Given the description of an element on the screen output the (x, y) to click on. 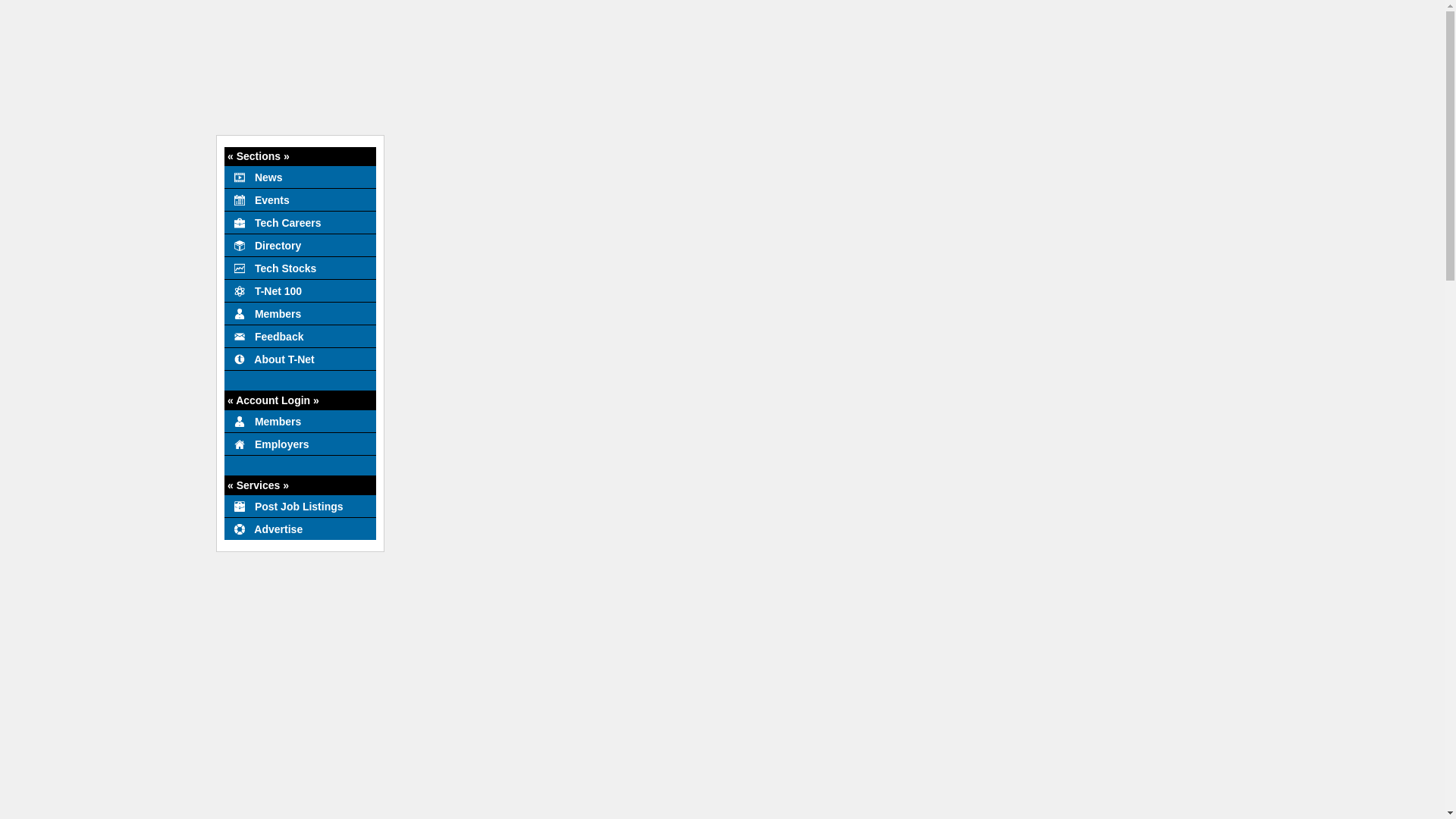
Tech Careers (299, 221)
Members (299, 420)
Advertise (299, 527)
Feedback (299, 335)
Tech Stocks (299, 267)
About T-Net (299, 358)
Post Job Listings (299, 505)
Employers (299, 443)
News (299, 176)
T-Net 100 (299, 290)
